Given the description of an element on the screen output the (x, y) to click on. 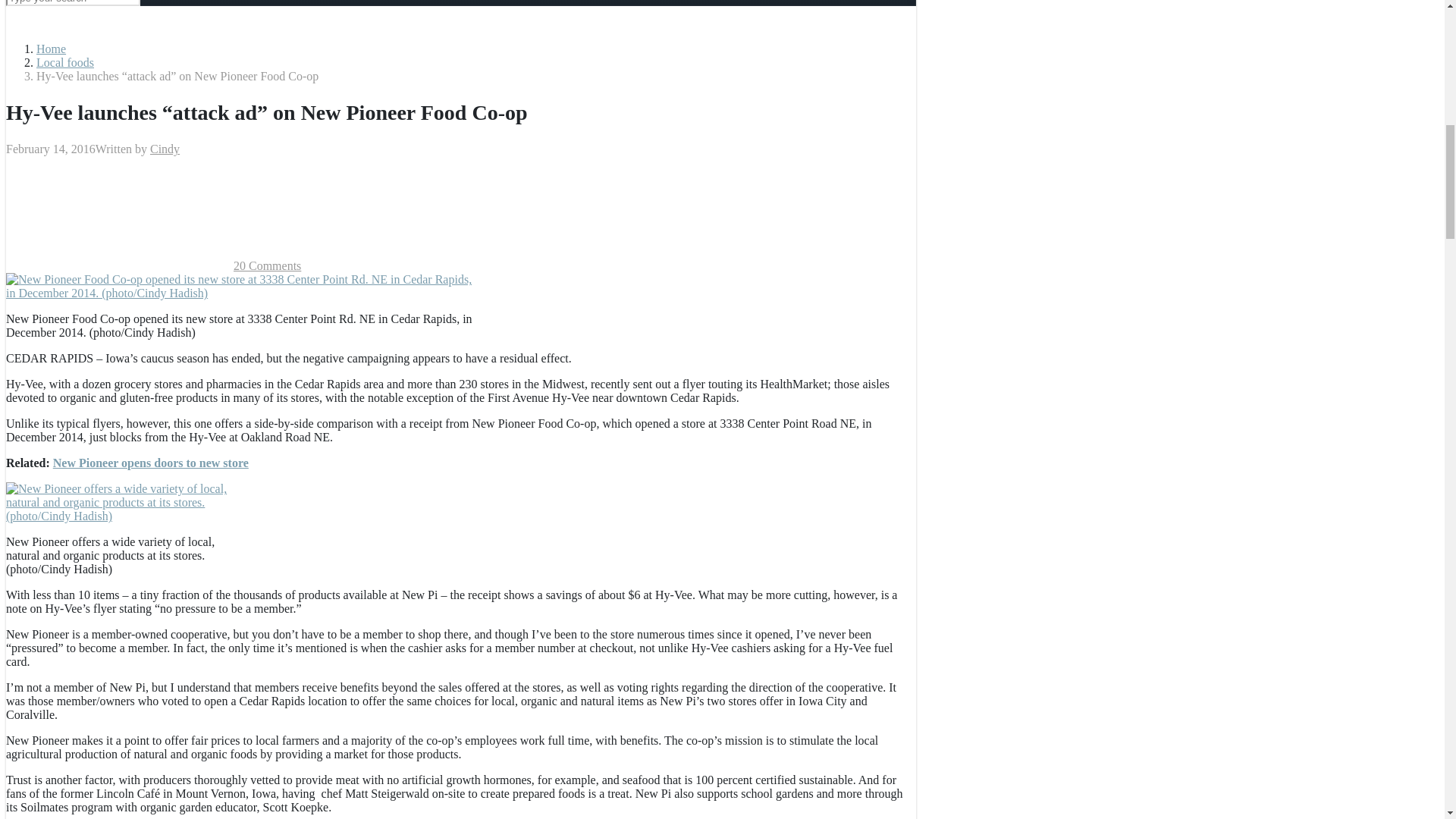
20 Comments (266, 265)
New Pioneer opens doors to new store (150, 462)
Local foods (65, 62)
View all posts by Cindy (164, 148)
Local foods (65, 62)
Cindy (164, 148)
Home (50, 48)
